Given the description of an element on the screen output the (x, y) to click on. 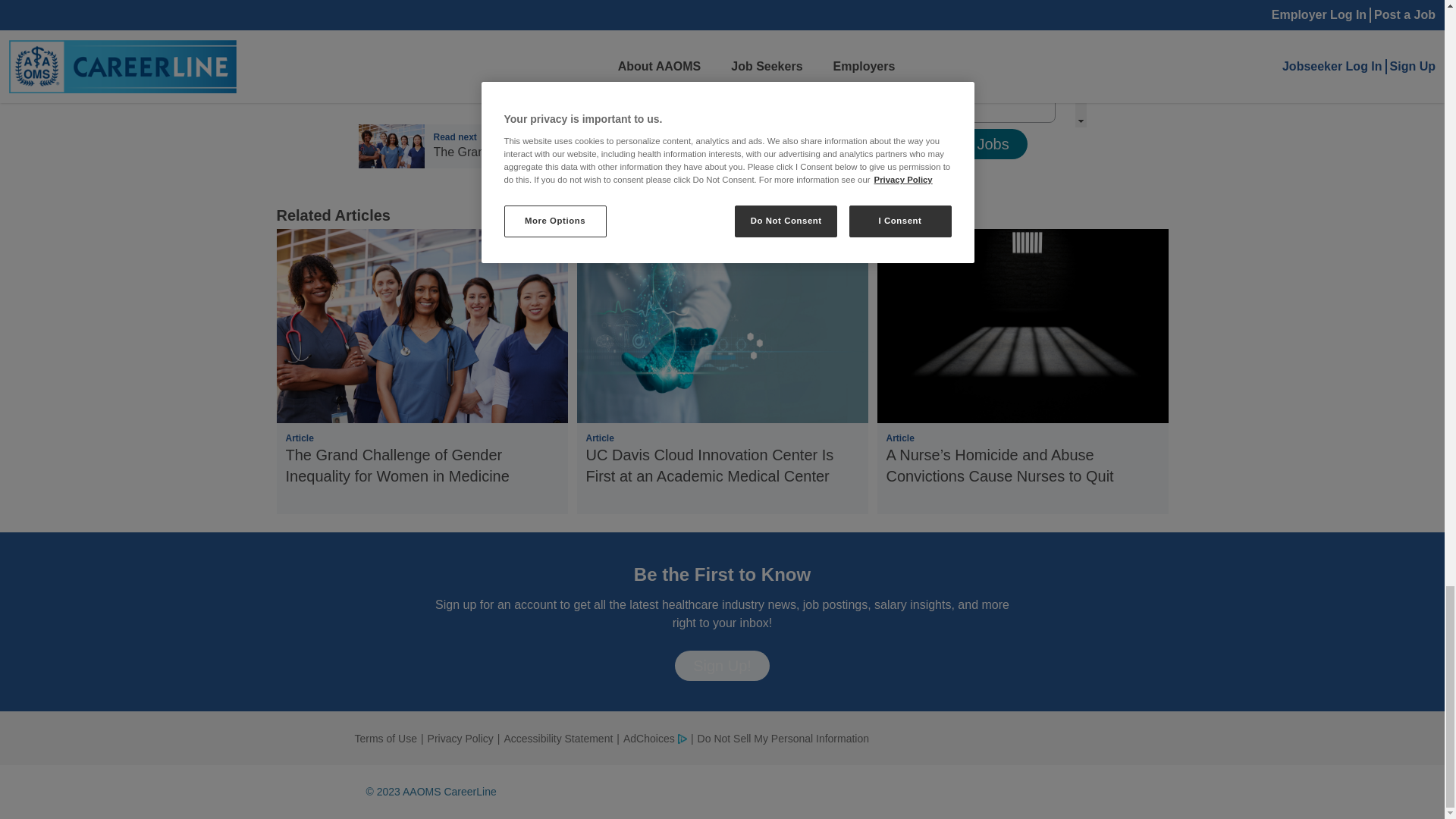
Health eCareers (557, 738)
